Given the description of an element on the screen output the (x, y) to click on. 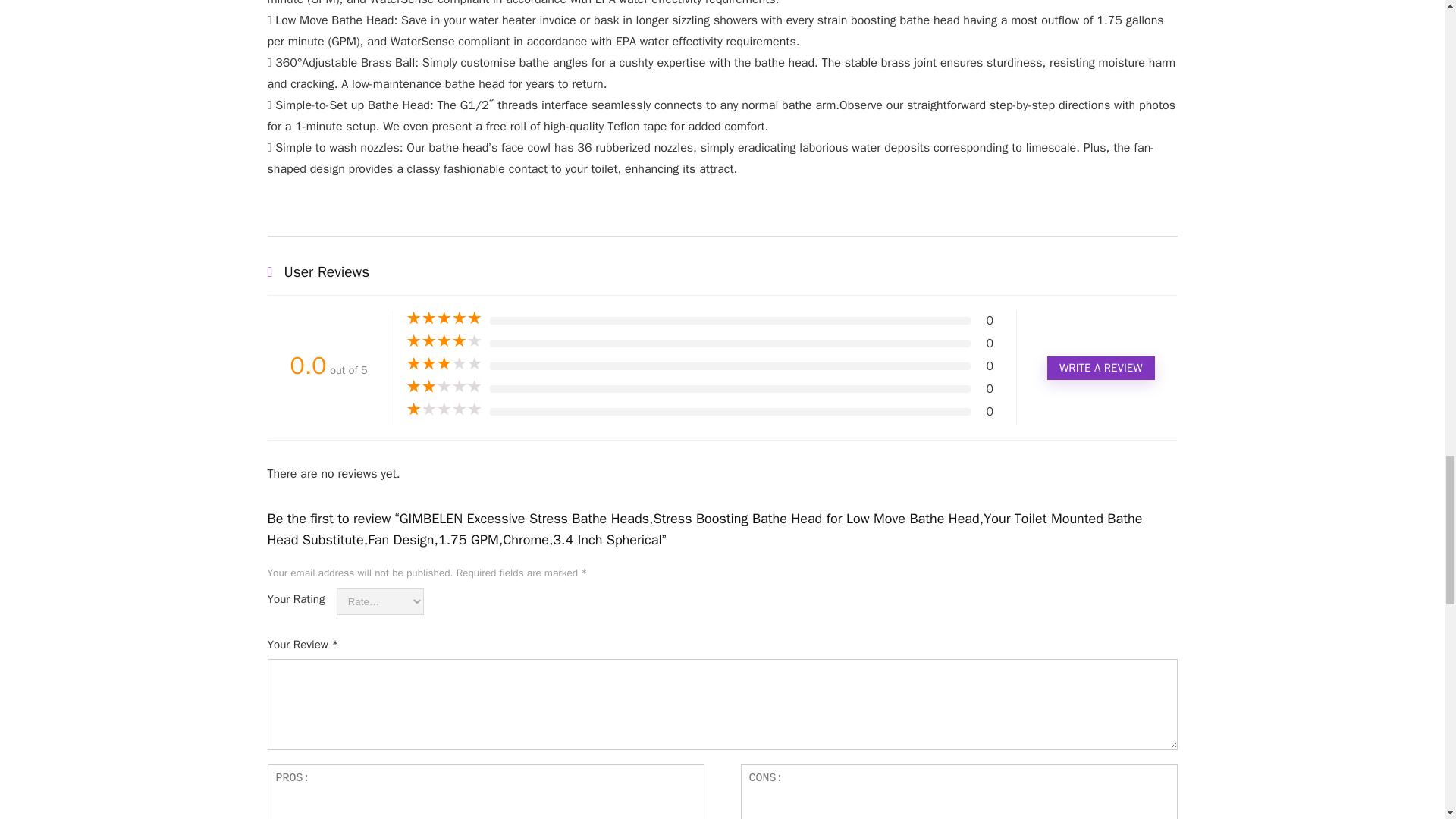
Rated 3 out of 5 (443, 363)
Rated 2 out of 5 (443, 386)
Rated 5 out of 5 (443, 318)
WRITE A REVIEW (1100, 368)
Rated 4 out of 5 (443, 340)
